Given the description of an element on the screen output the (x, y) to click on. 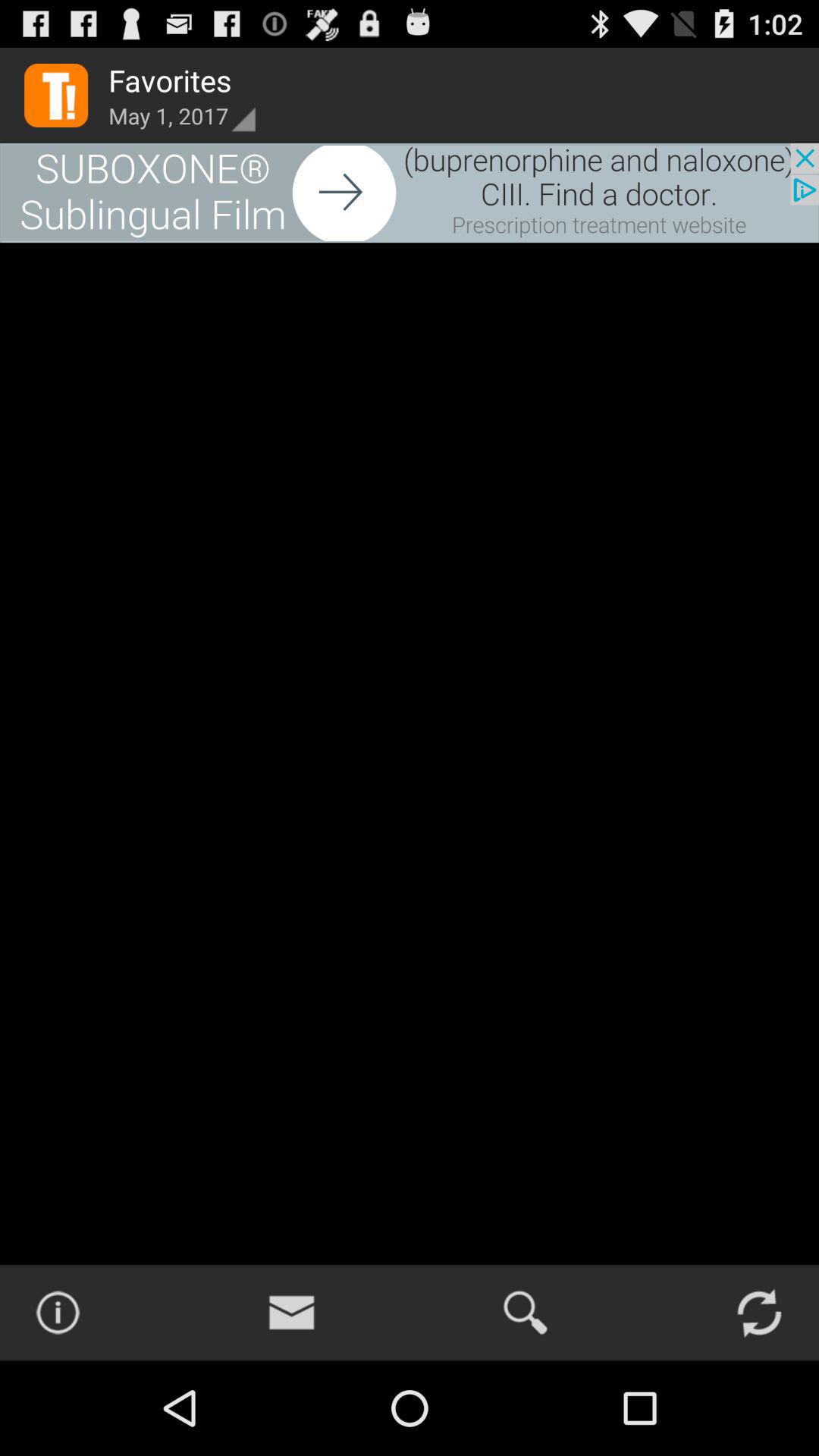
go to the advertised website (409, 192)
